Given the description of an element on the screen output the (x, y) to click on. 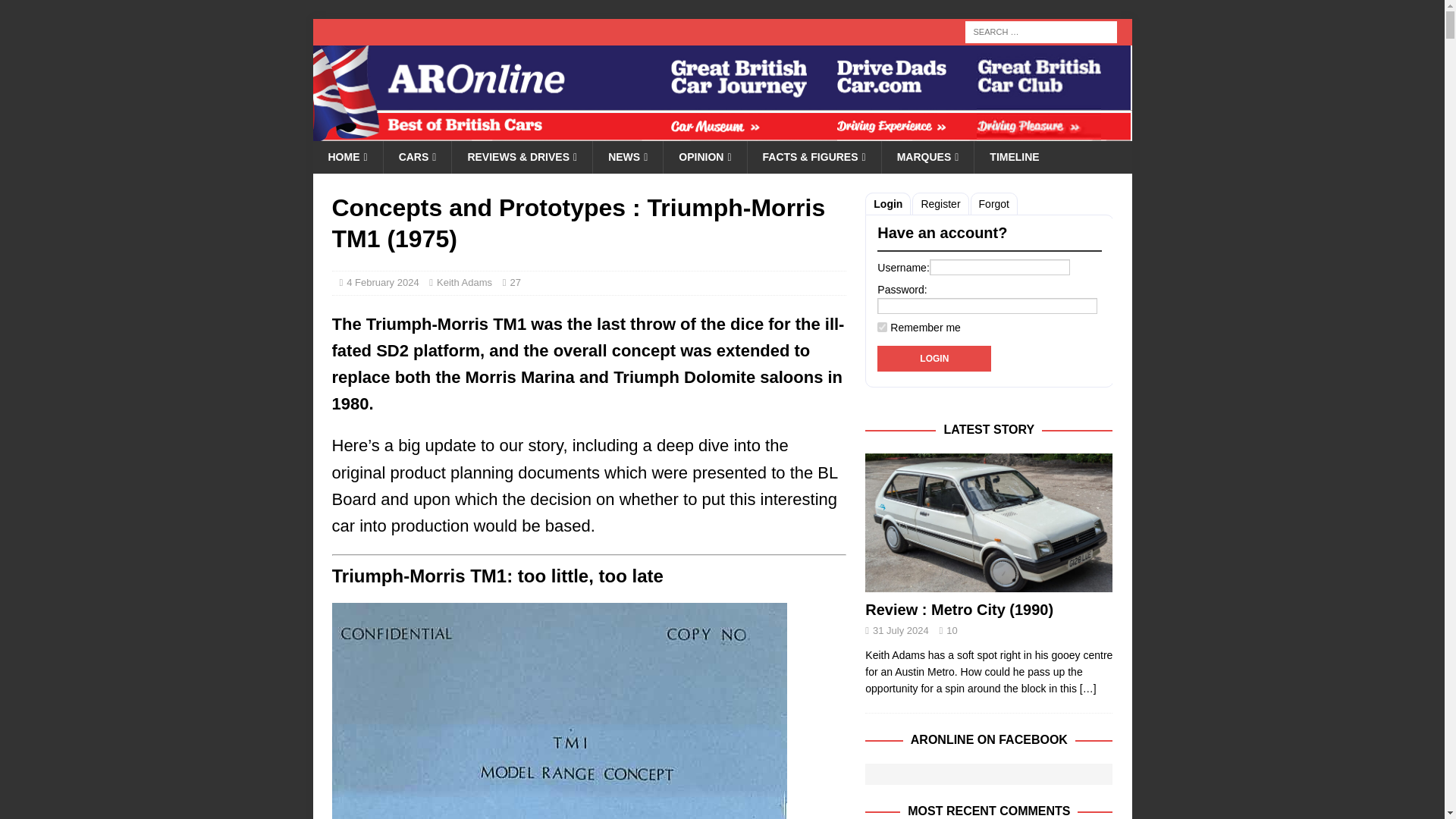
forever (881, 327)
AROnline (722, 132)
Search (56, 11)
AROnline model histories (416, 156)
Login (934, 358)
